Given the description of an element on the screen output the (x, y) to click on. 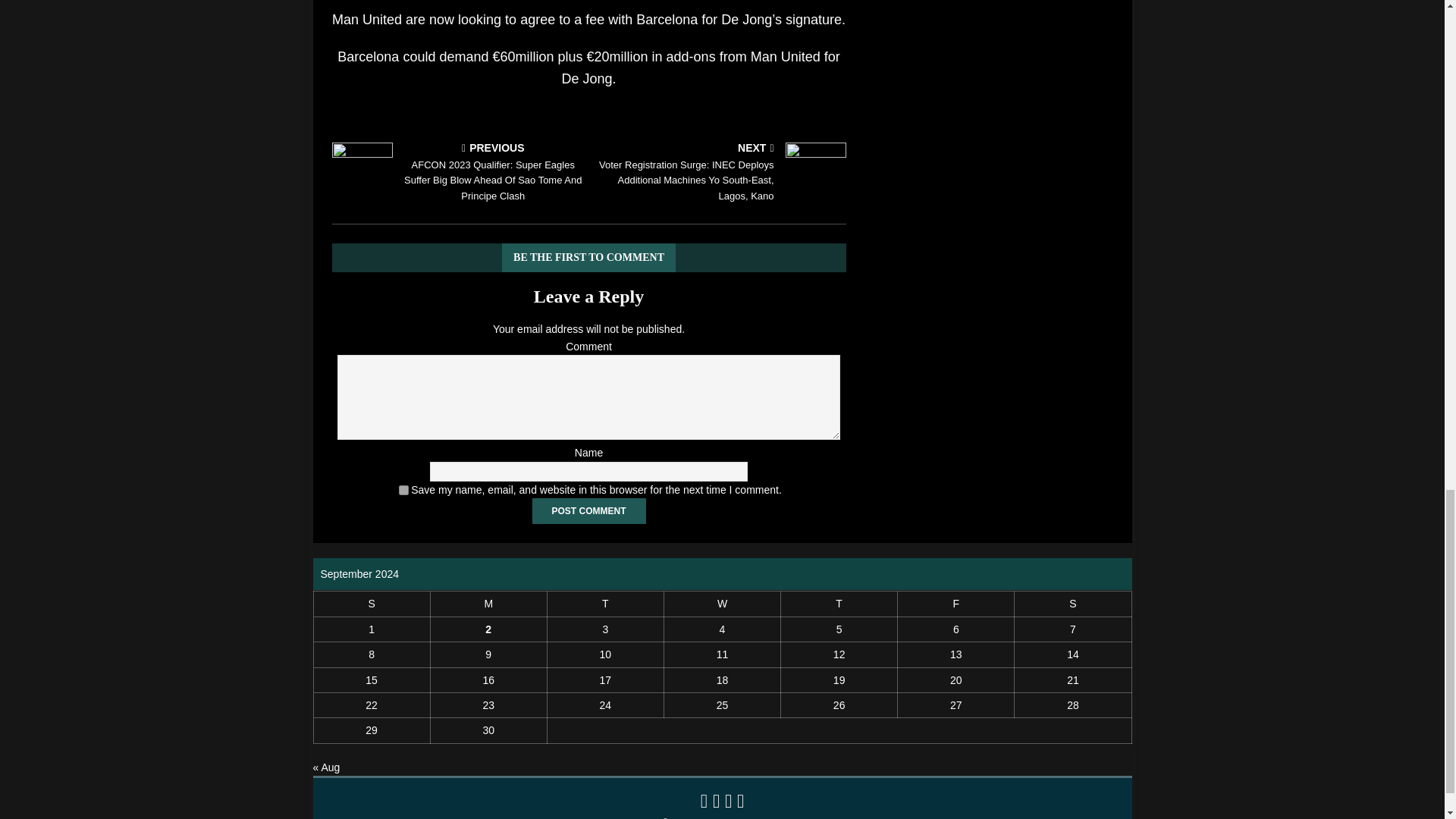
Tuesday (605, 603)
Saturday (1072, 603)
Friday (956, 603)
yes (403, 490)
Wednesday (721, 603)
Monday (488, 603)
Sunday (371, 603)
Post Comment (589, 510)
Thursday (839, 603)
